Given the description of an element on the screen output the (x, y) to click on. 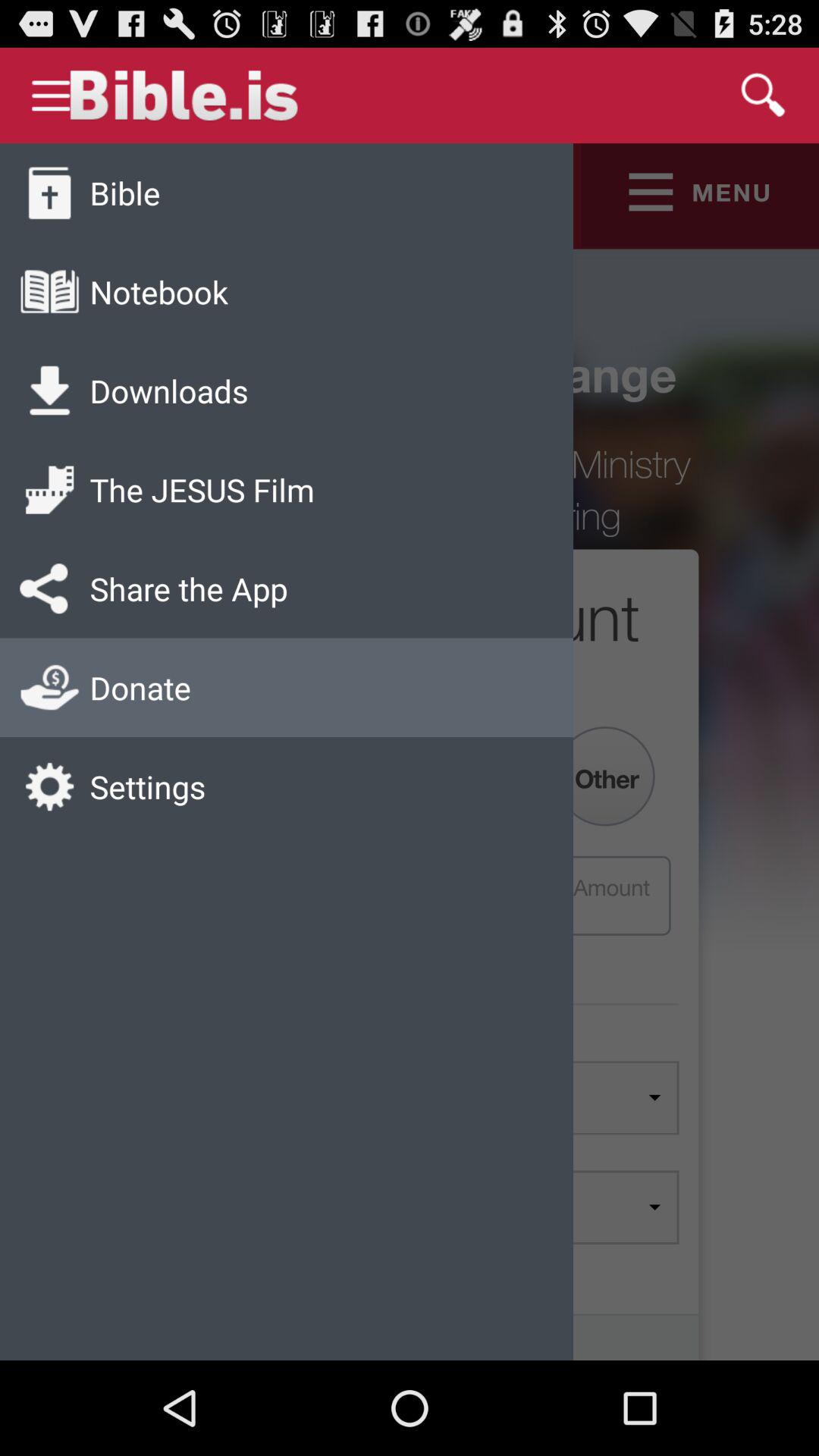
flip to the jesus film (201, 489)
